Given the description of an element on the screen output the (x, y) to click on. 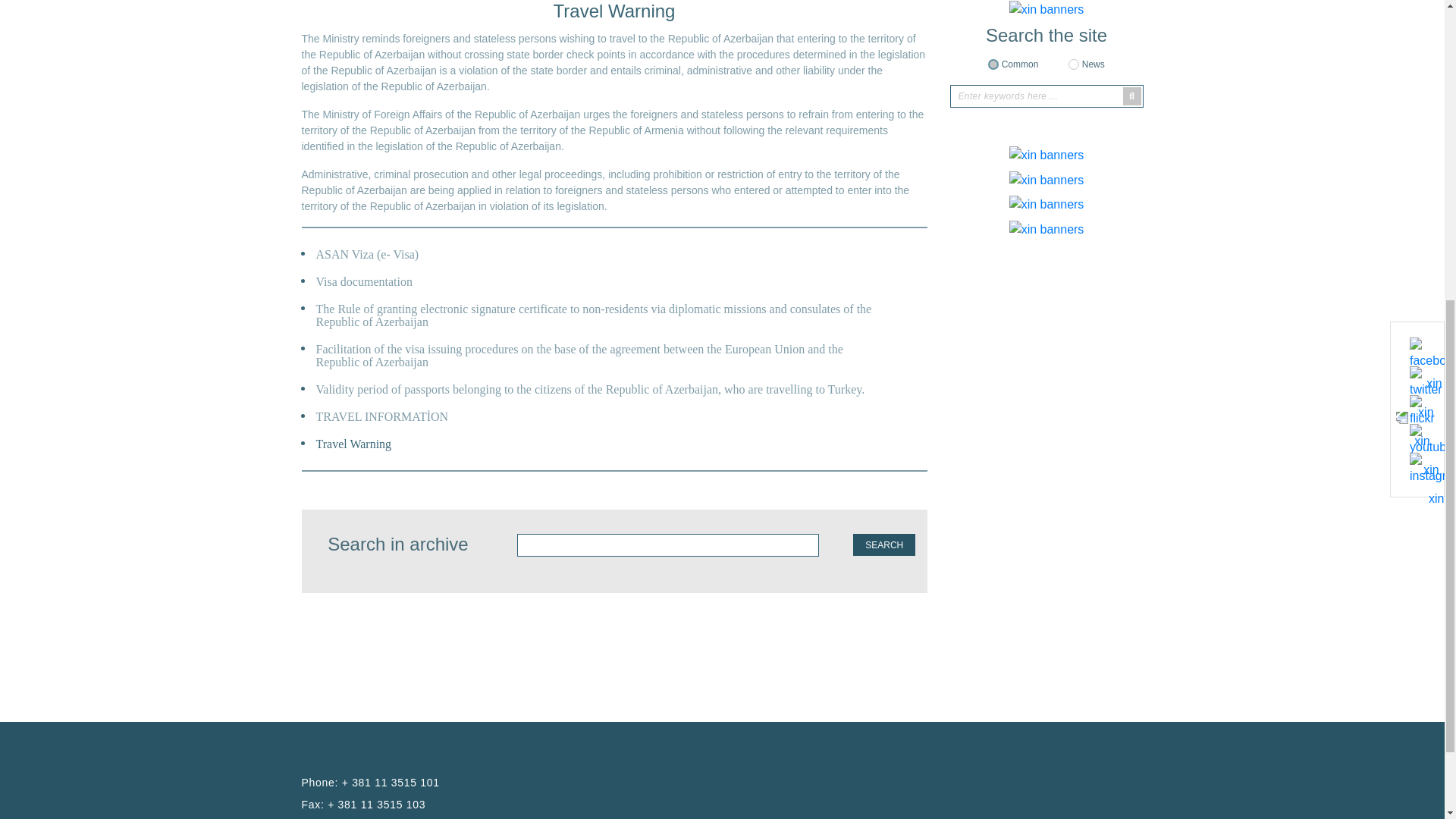
NEWS Element type: text (1002, 127)
CONTACTS Element type: text (1091, 127)
ASAN Viza (e- Visa) Element type: text (365, 778)
ABOUT AZERBAIJAN Element type: text (427, 127)
EN Element type: text (1132, 103)
AZ Element type: text (1085, 103)
Visa documentation Element type: text (361, 806)
RS Element type: text (1108, 103)
EMBASSY Element type: text (549, 127)
CONSULAR SERVICE AND VISA Element type: text (861, 127)
BILATERAL RELATIONS Element type: text (678, 127)
